Given the description of an element on the screen output the (x, y) to click on. 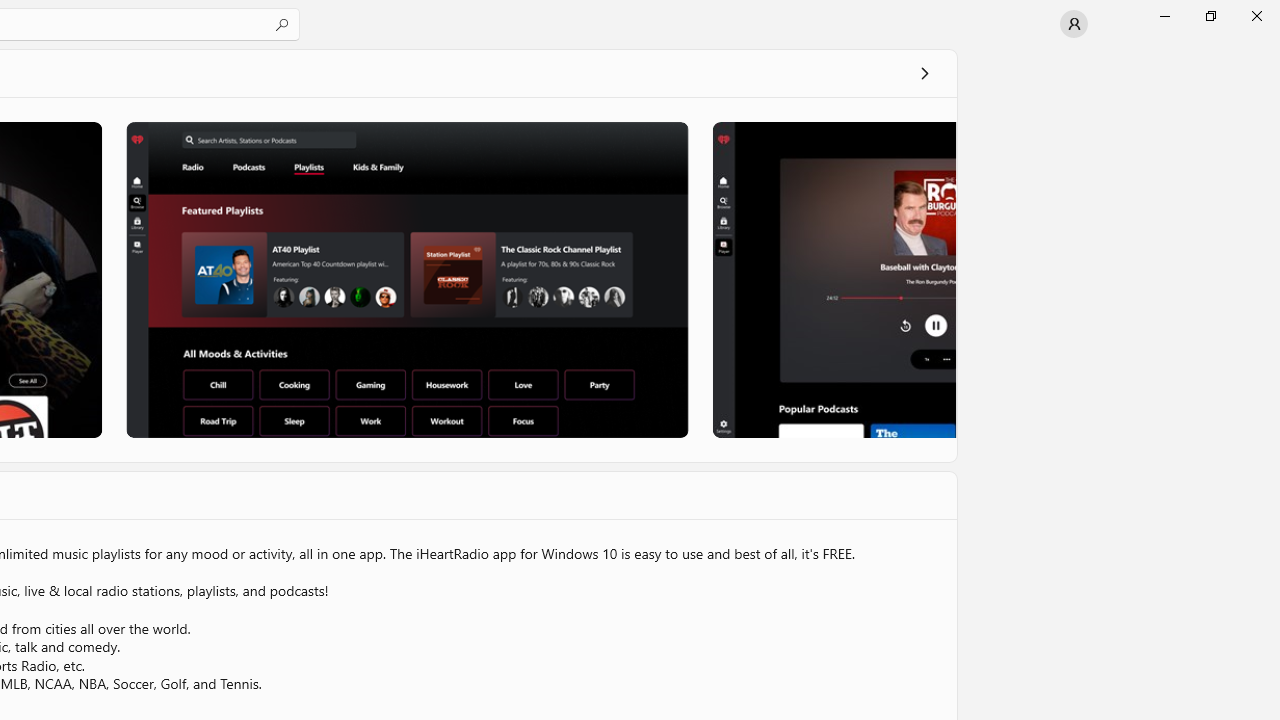
Restore Microsoft Store (1210, 15)
User profile (1073, 24)
Close Microsoft Store (1256, 15)
Screenshot 2 (406, 279)
Screenshot 3 (832, 279)
Minimize Microsoft Store (1164, 15)
See all (924, 72)
